Given the description of an element on the screen output the (x, y) to click on. 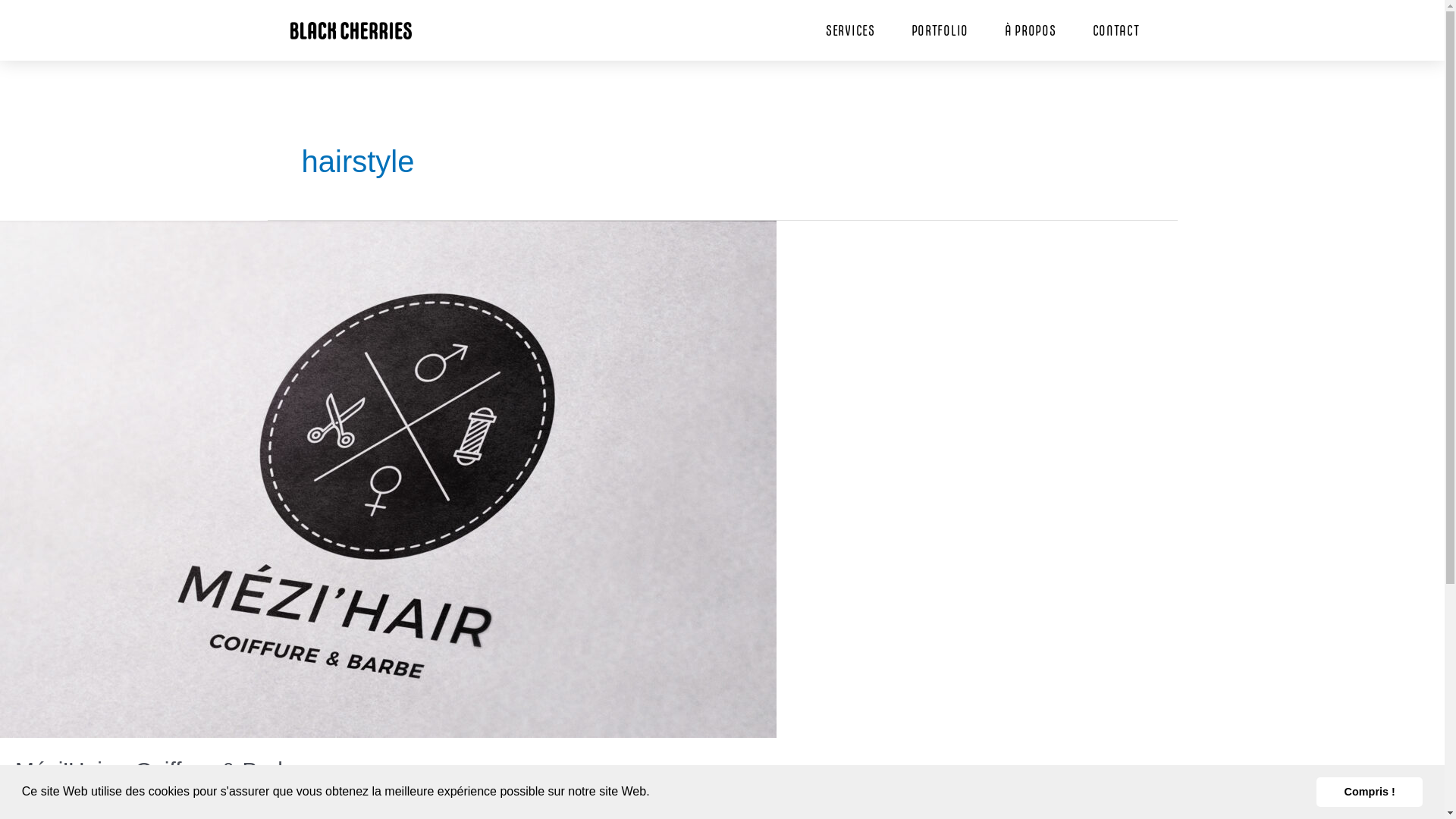
CONTACT Element type: text (1115, 30)
SERVICES Element type: text (850, 30)
Compris ! Element type: text (1369, 791)
PORTFOLIO Element type: text (939, 30)
